Given the description of an element on the screen output the (x, y) to click on. 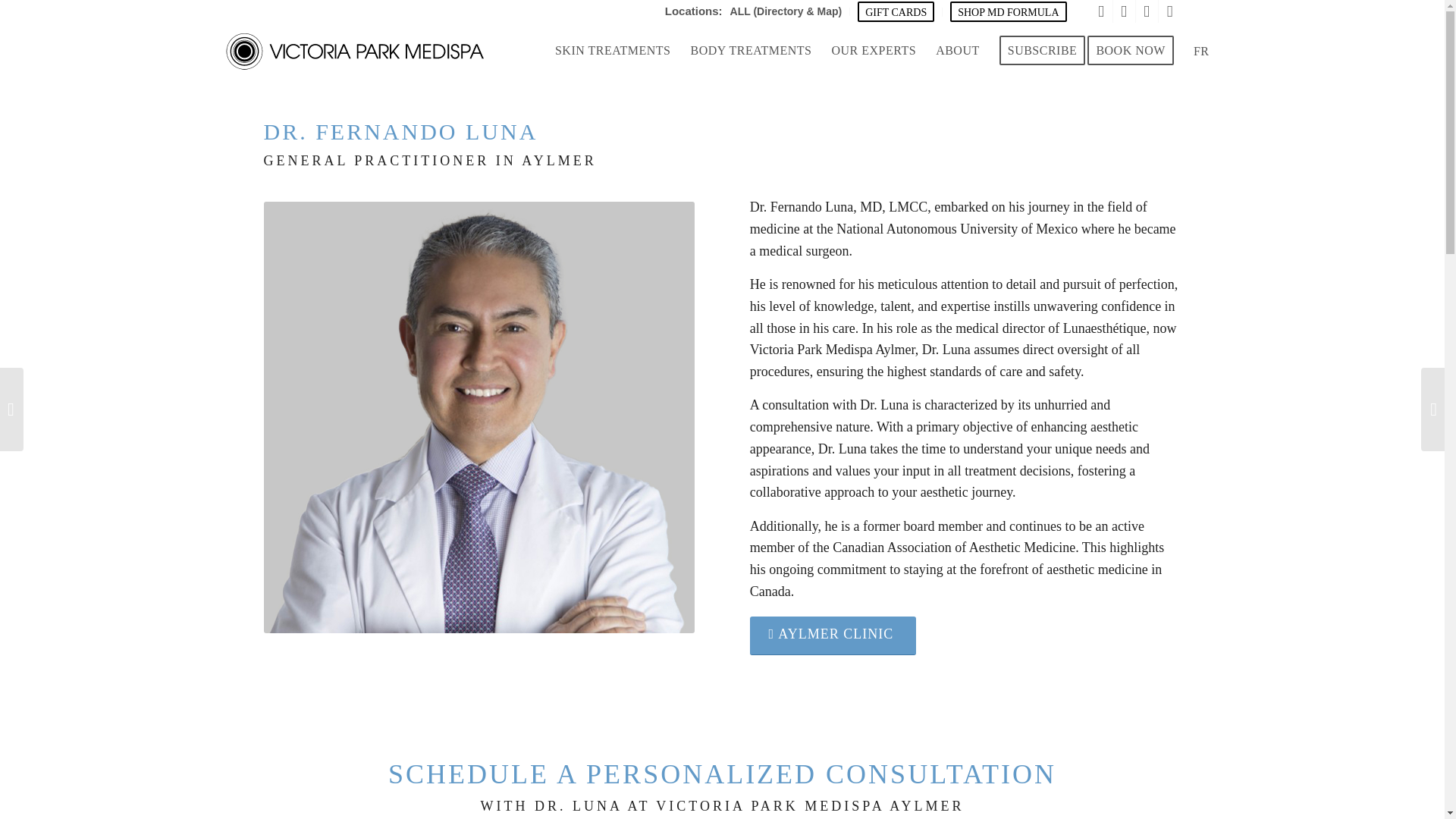
logo-medispa-en-black-2x (354, 51)
GIFT CARDS (895, 11)
SHOP MD FORMULA (1007, 11)
Youtube (1146, 11)
Facebook (1124, 11)
Instagram (1101, 11)
LinkedIn (1169, 11)
SKIN TREATMENTS (612, 51)
